Given the description of an element on the screen output the (x, y) to click on. 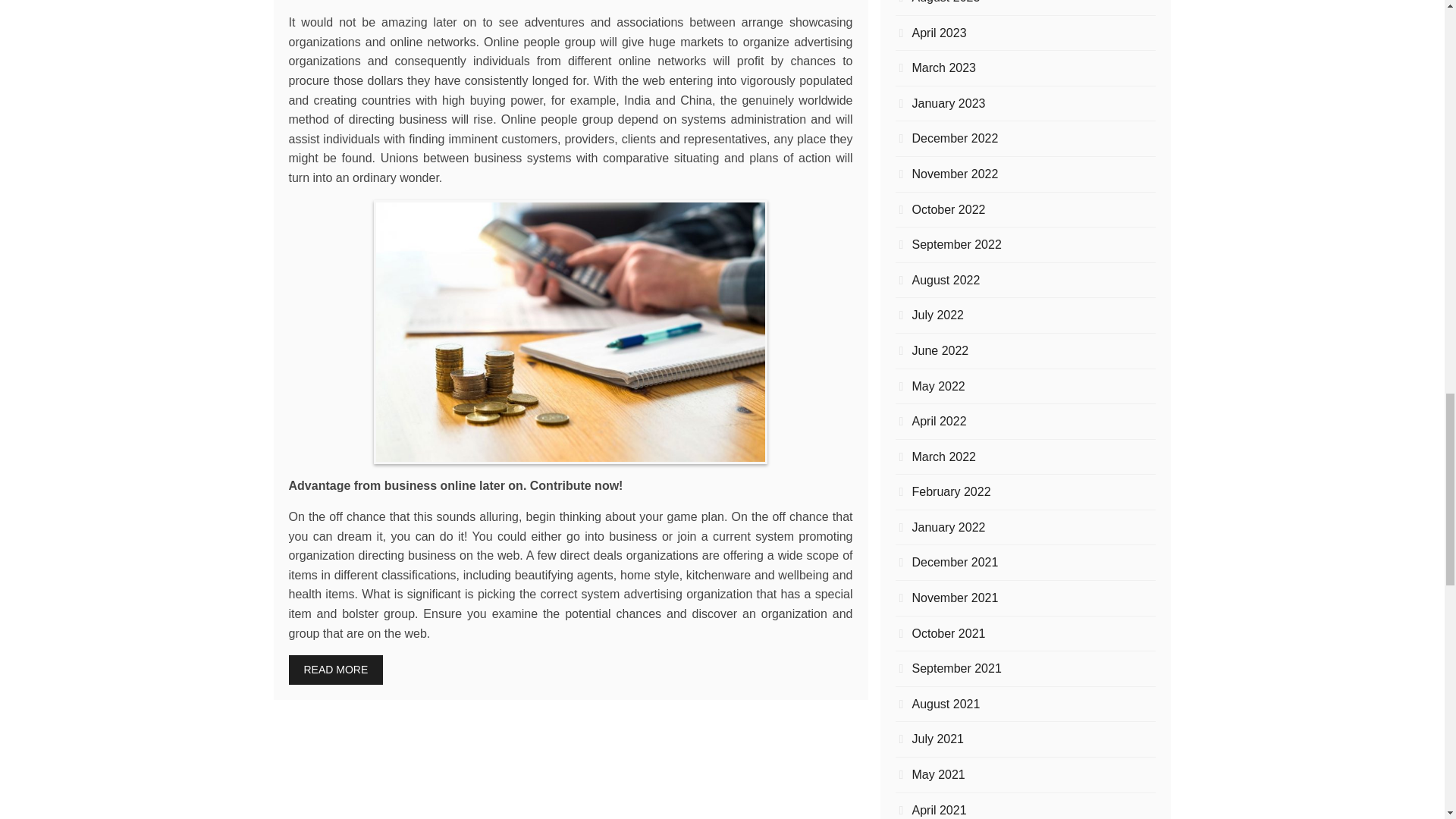
September 2022 (1025, 244)
August 2023 (1025, 3)
December 2022 (1025, 138)
May 2022 (1025, 385)
READ MORE (335, 669)
April 2022 (1025, 421)
July 2022 (1025, 315)
August 2022 (1025, 280)
March 2022 (1025, 456)
November 2022 (1025, 174)
October 2022 (1025, 209)
January 2022 (1025, 527)
April 2023 (1025, 33)
January 2023 (1025, 103)
March 2023 (1025, 67)
